Given the description of an element on the screen output the (x, y) to click on. 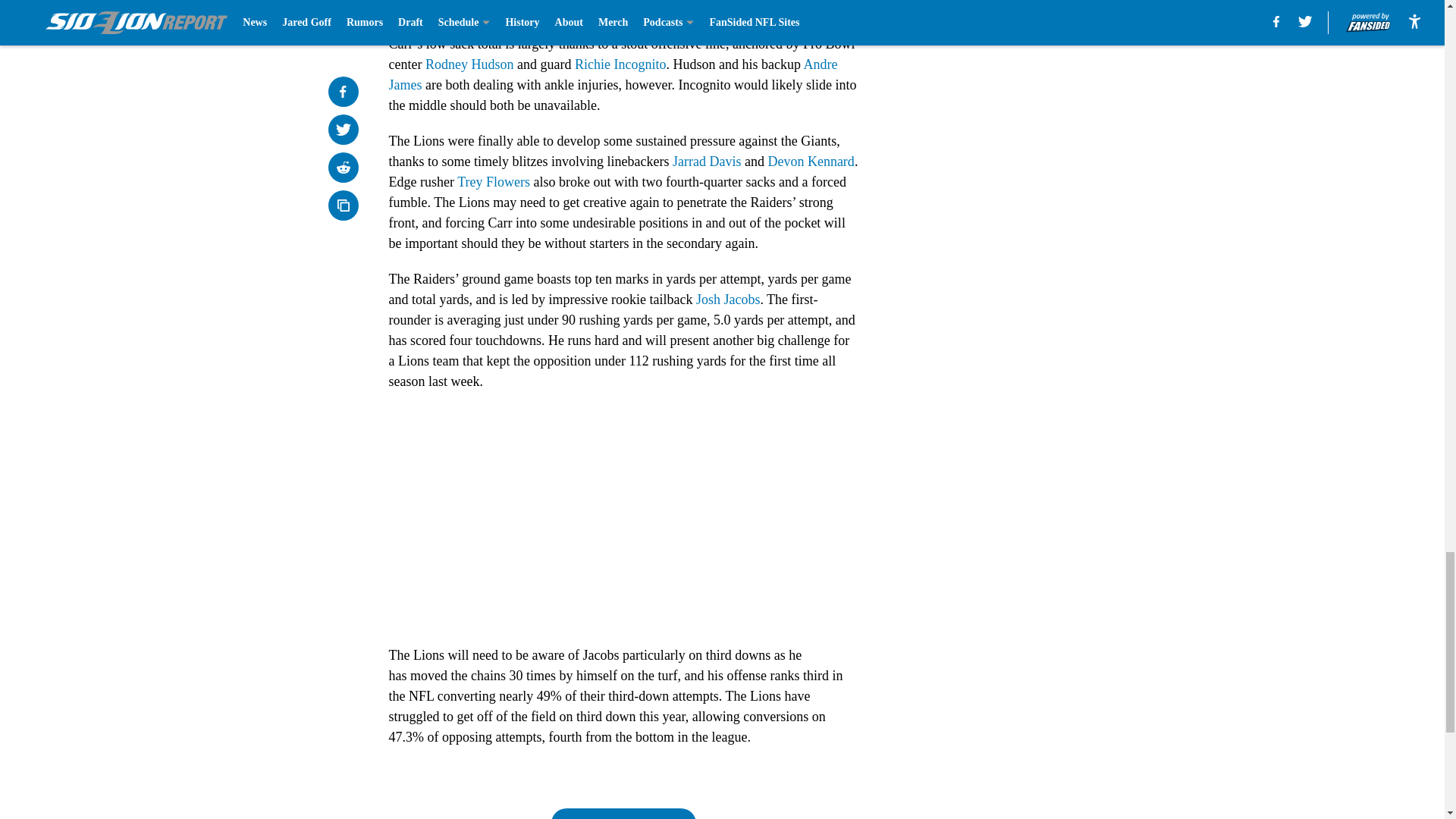
Jarrad Davis (706, 160)
Andre James (612, 74)
Rodney Hudson (469, 64)
Trey Flowers (493, 181)
Devon Kennard (810, 160)
Josh Jacobs (727, 299)
Richie Incognito (620, 64)
